Given the description of an element on the screen output the (x, y) to click on. 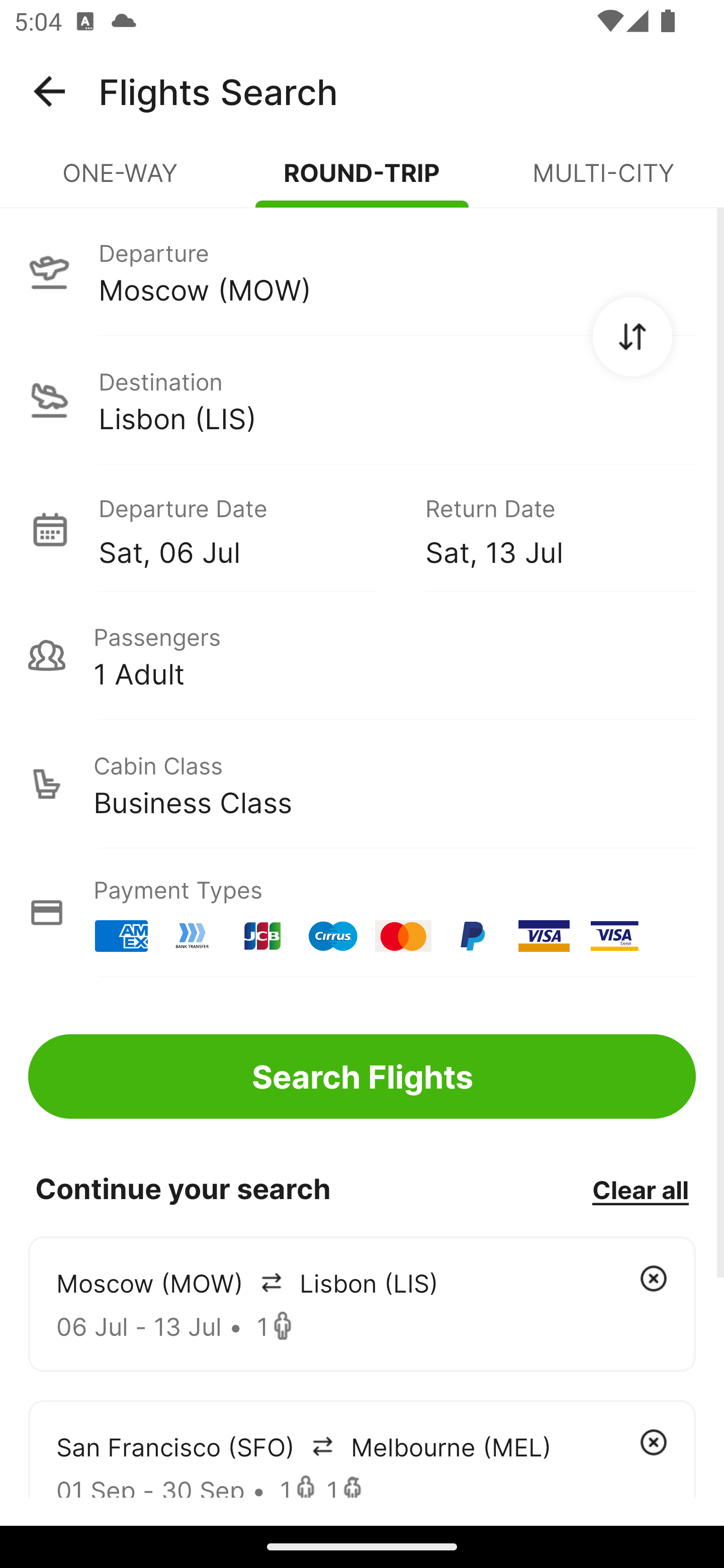
ONE-WAY (120, 180)
ROUND-TRIP (361, 180)
MULTI-CITY (603, 180)
Departure Moscow (MOW) (362, 270)
Destination Lisbon (LIS) (362, 400)
Departure Date Sat, 06 Jul (247, 528)
Return Date Sat, 13 Jul (546, 528)
Passengers 1 Adult (362, 655)
Cabin Class Business Class (362, 783)
Payment Types (362, 912)
Search Flights (361, 1075)
Clear all (640, 1189)
